Given the description of an element on the screen output the (x, y) to click on. 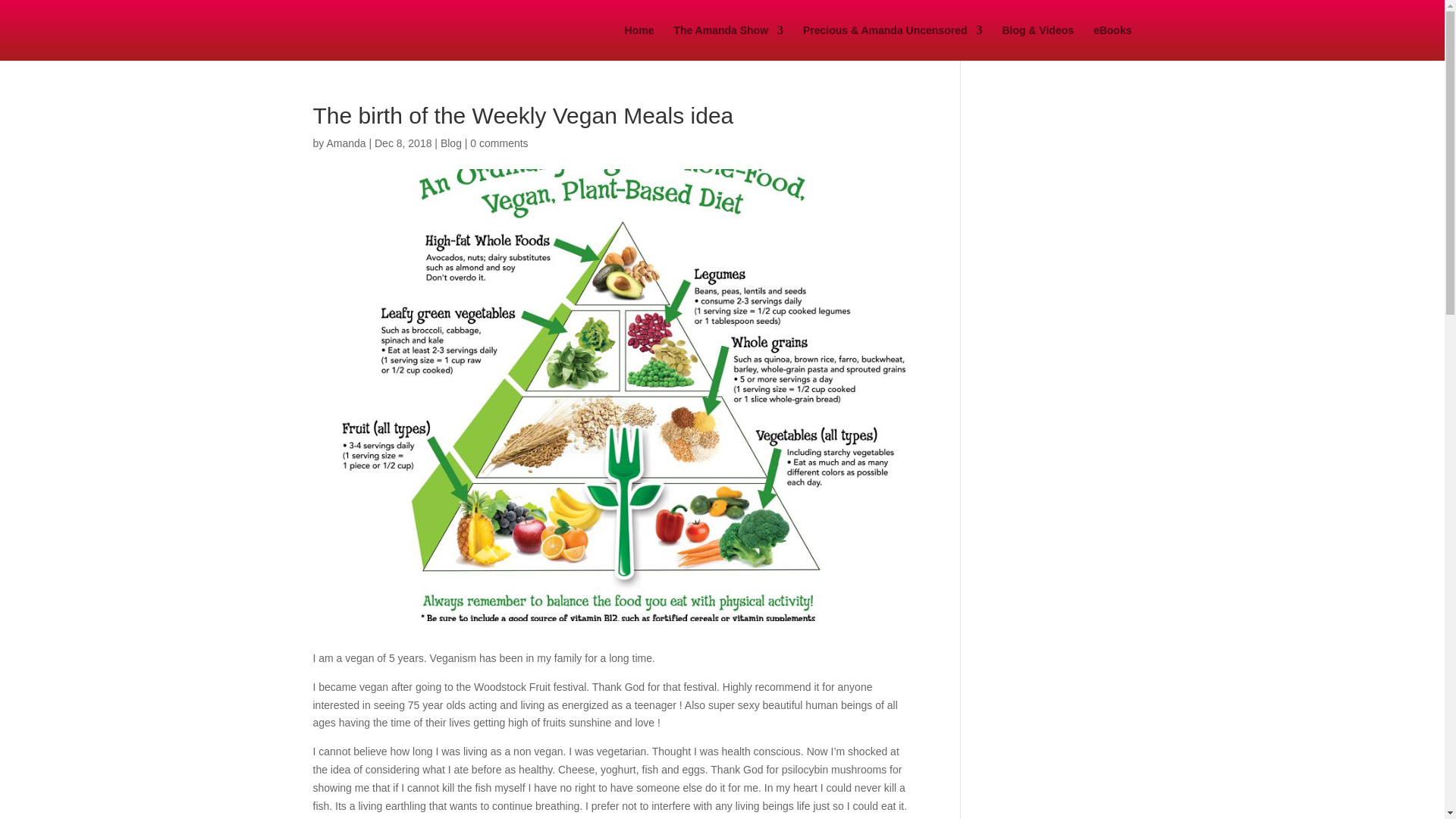
Blog (451, 143)
The Amanda Show (727, 42)
Amanda (345, 143)
0 comments (498, 143)
eBooks (1112, 42)
Posts by Amanda (345, 143)
